Given the description of an element on the screen output the (x, y) to click on. 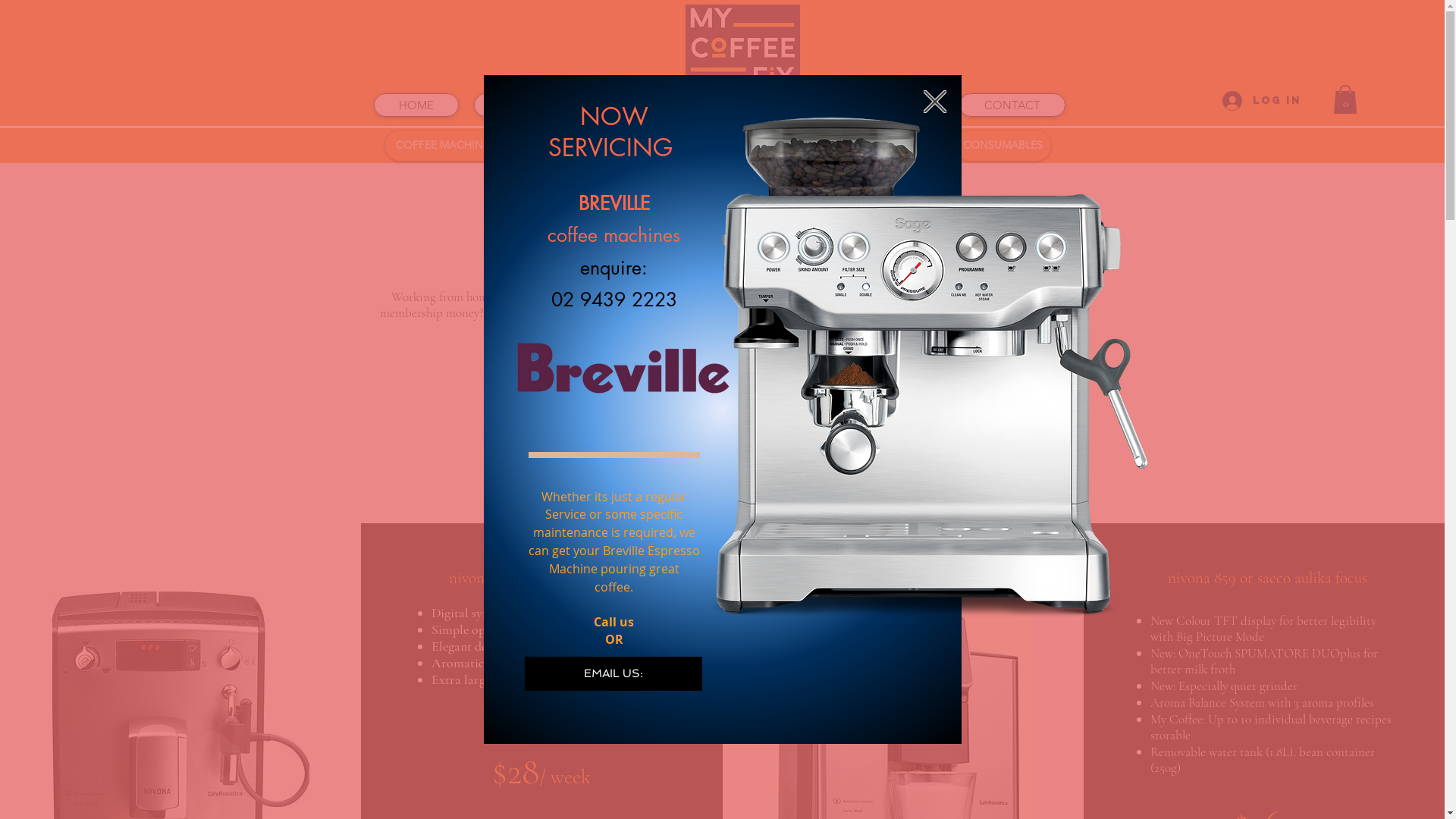
CONTACT Element type: text (1011, 104)
HOME Element type: text (415, 104)
EMAIL US: Element type: text (613, 673)
SPARE PARTS Element type: text (874, 145)
Site Search Element type: hover (935, 47)
COFFEE MACHINES Element type: text (445, 145)
COFFEE GRINDERS Element type: text (603, 145)
ABOUT Element type: text (517, 104)
0 Element type: text (1345, 98)
OFFICE SOLUTIONS Element type: text (656, 104)
Log In Element type: text (1256, 100)
SERVICE & MAINTENANCE Element type: text (847, 104)
CONSUMABLES Element type: text (1001, 145)
Back to site Element type: hover (934, 101)
COFFEE BEANS Element type: text (745, 145)
